Given the description of an element on the screen output the (x, y) to click on. 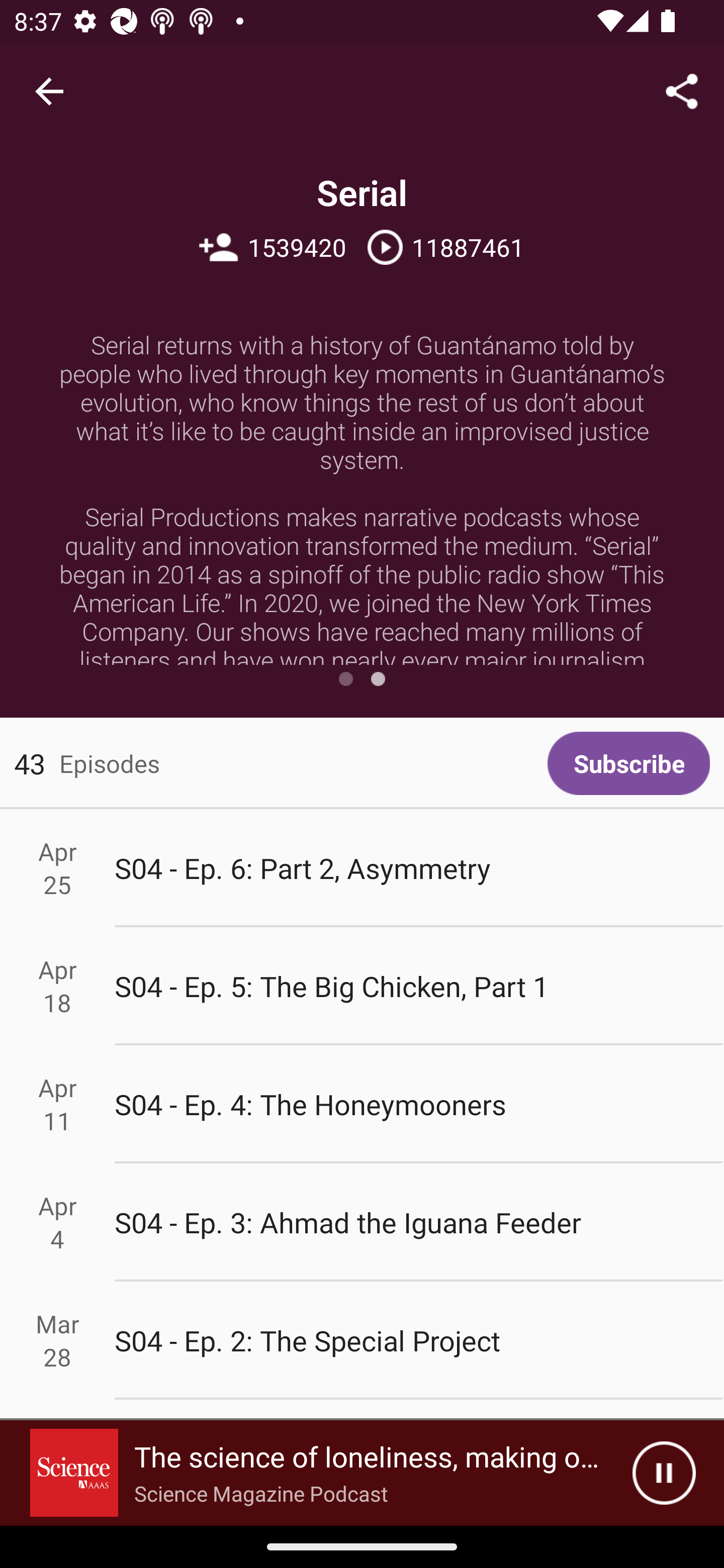
Navigate up (49, 91)
Share... (681, 90)
Subscribe (628, 763)
Apr 25 S04 - Ep. 6: Part 2, Asymmetry (362, 867)
Apr 18 S04 - Ep. 5: The Big Chicken, Part 1 (362, 985)
Apr 11 S04 - Ep. 4: The Honeymooners (362, 1104)
Apr 4 S04 - Ep. 3: Ahmad the Iguana Feeder (362, 1222)
Mar 28 S04 - Ep. 2: The Special Project (362, 1340)
Pause (663, 1472)
